Given the description of an element on the screen output the (x, y) to click on. 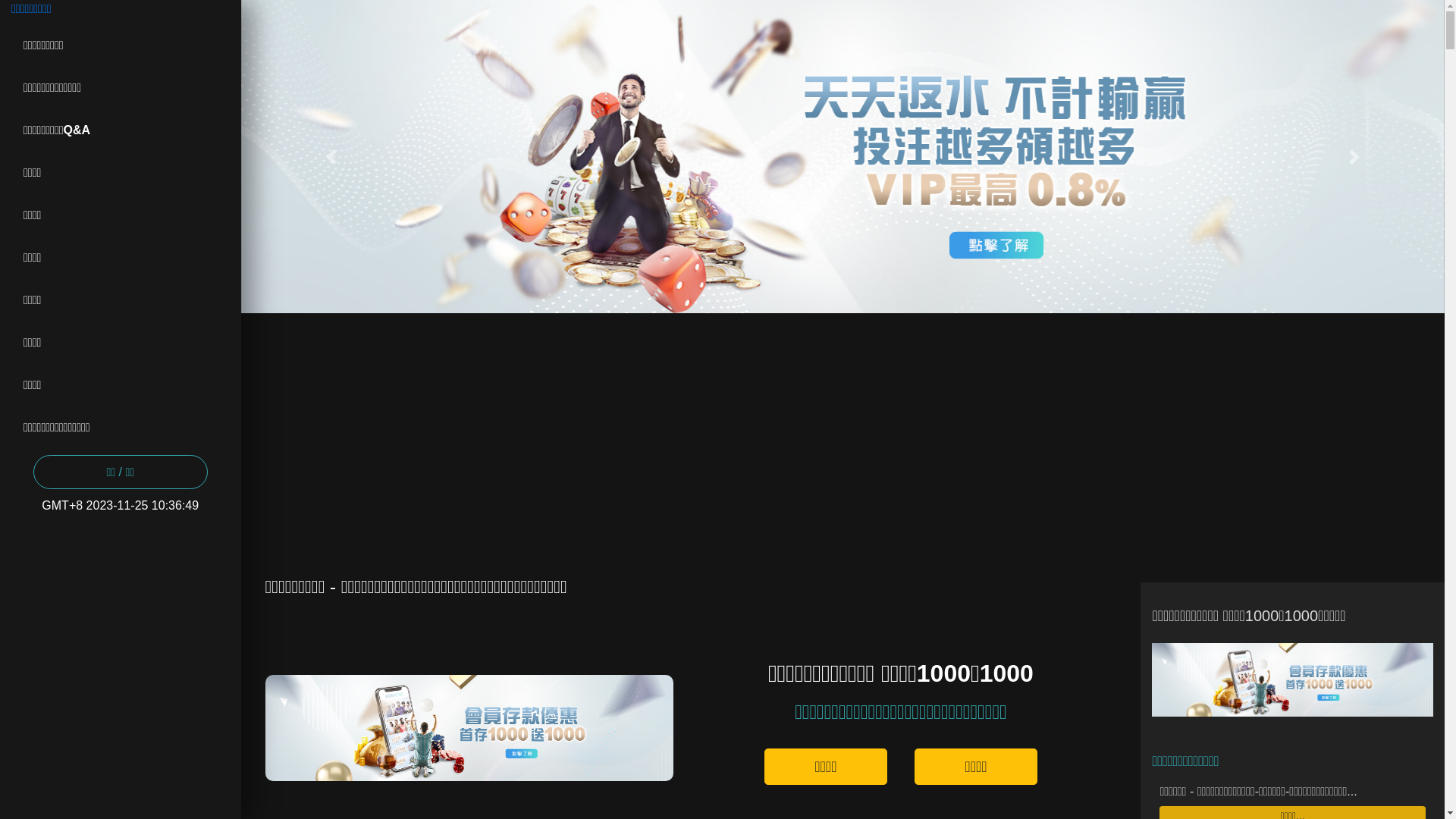
YouTube video player Element type: hover (836, 432)
Next Element type: text (1354, 156)
Previous Element type: text (331, 156)
